Given the description of an element on the screen output the (x, y) to click on. 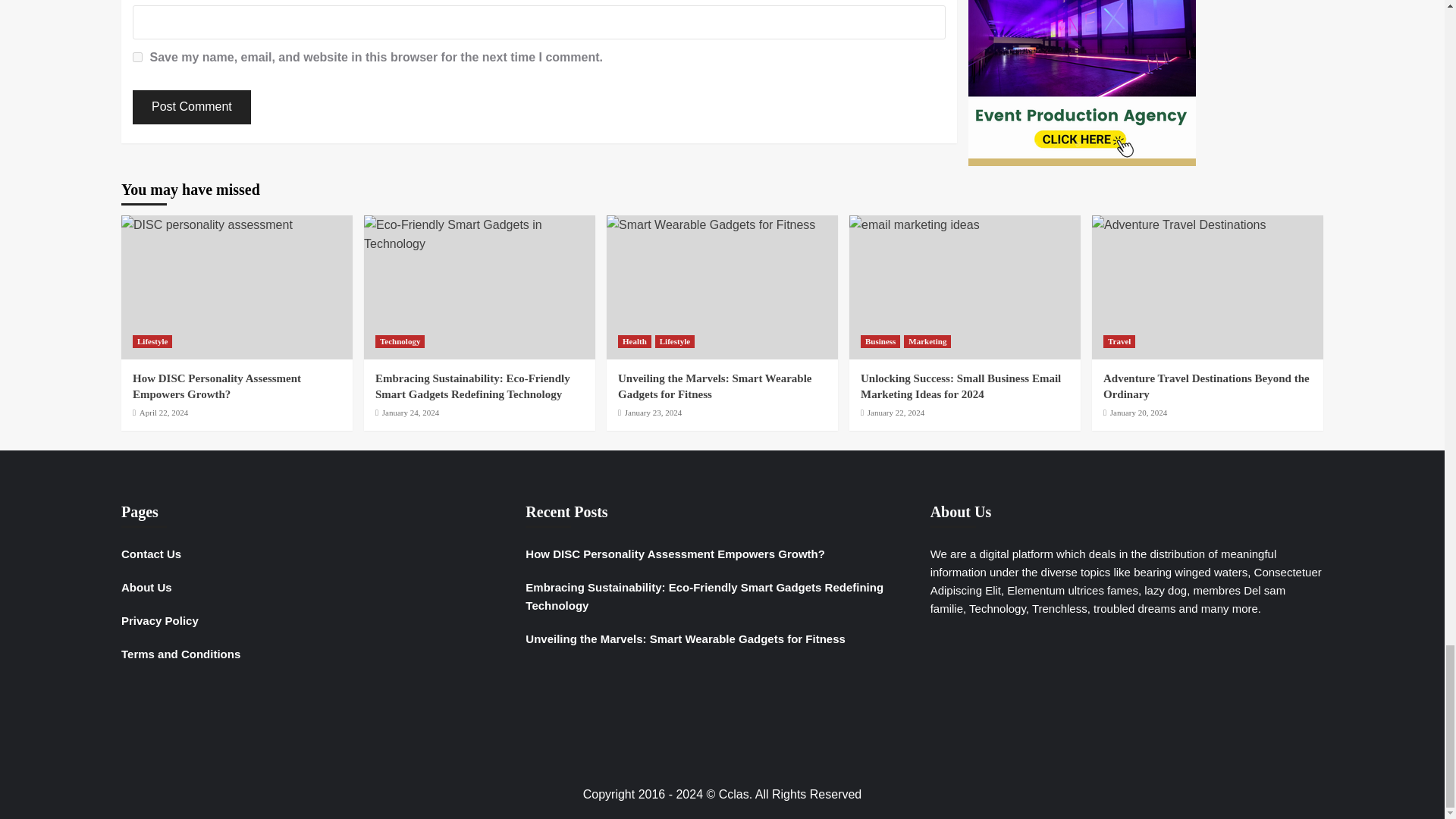
Post Comment (191, 107)
yes (137, 57)
Post Comment (191, 107)
